Given the description of an element on the screen output the (x, y) to click on. 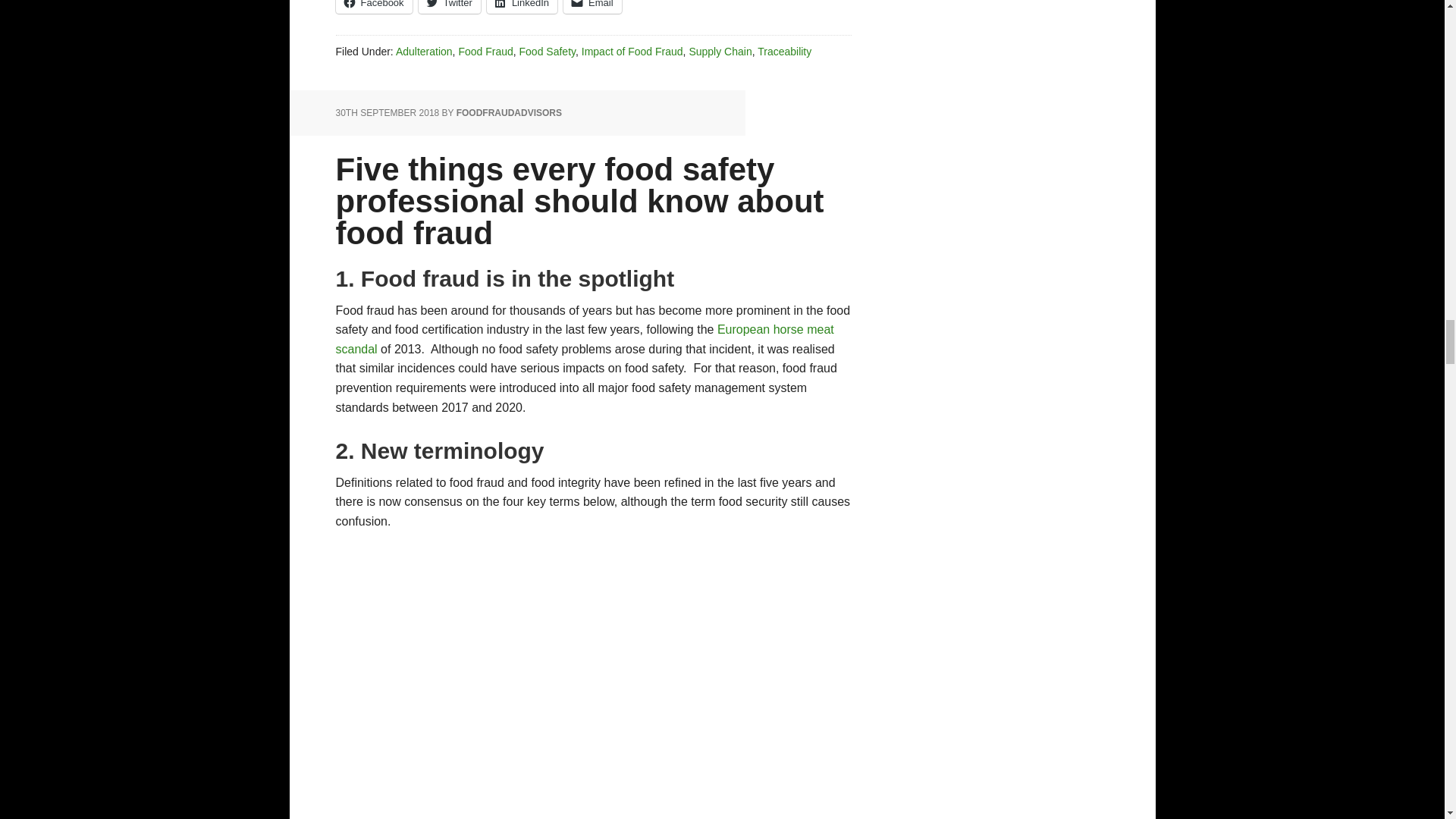
Twitter (449, 6)
Click to share on LinkedIn (521, 6)
Click to share on Twitter (449, 6)
Adulteration (424, 51)
Food Safety (547, 51)
Facebook (373, 6)
Click to email a link to a friend (592, 6)
FOODFRAUDADVISORS (509, 112)
Click to share on Facebook (373, 6)
Traceability (783, 51)
